Given the description of an element on the screen output the (x, y) to click on. 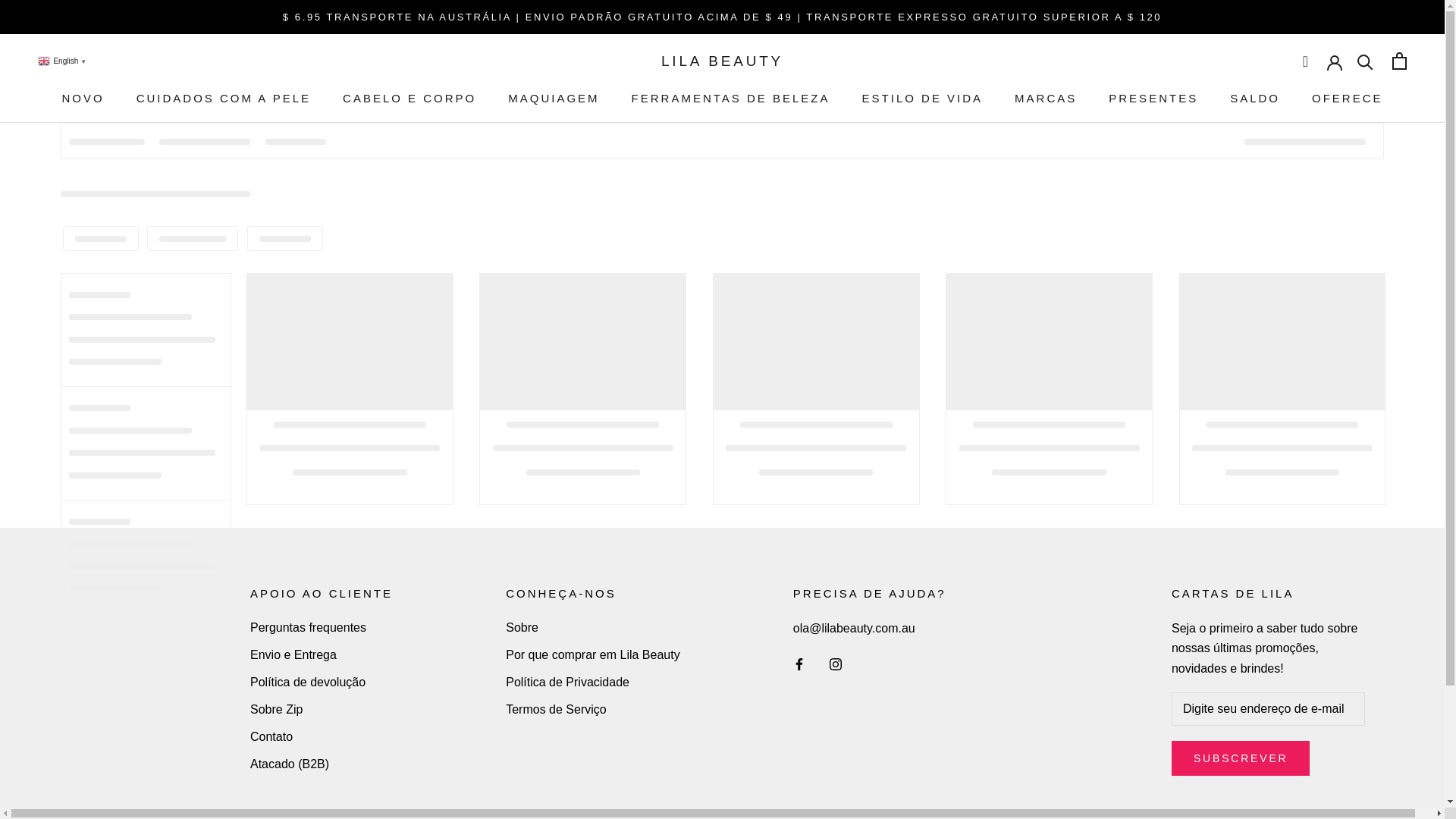
Sobre Element type: text (592, 627)
Sobre Zip Element type: text (321, 709)
CABELO E CORPO Element type: text (409, 97)
SUBSCREVER Element type: text (1240, 757)
LILA BEAUTY Element type: text (722, 60)
MAQUIAGEM Element type: text (553, 97)
Perguntas frequentes Element type: text (321, 627)
Atacado (B2B) Element type: text (321, 764)
PRESENTES Element type: text (1153, 97)
Por que comprar em Lila Beauty Element type: text (592, 655)
NOVO Element type: text (82, 97)
FERRAMENTAS DE BELEZA Element type: text (730, 97)
MARCAS Element type: text (1045, 97)
ESTILO DE VIDA
ESTILO DE VIDA Element type: text (922, 97)
Envio e Entrega Element type: text (321, 655)
SALDO
SALDO Element type: text (1255, 97)
OFERECE Element type: text (1347, 97)
CUIDADOS COM A PELE Element type: text (223, 97)
Contato Element type: text (321, 737)
